Given the description of an element on the screen output the (x, y) to click on. 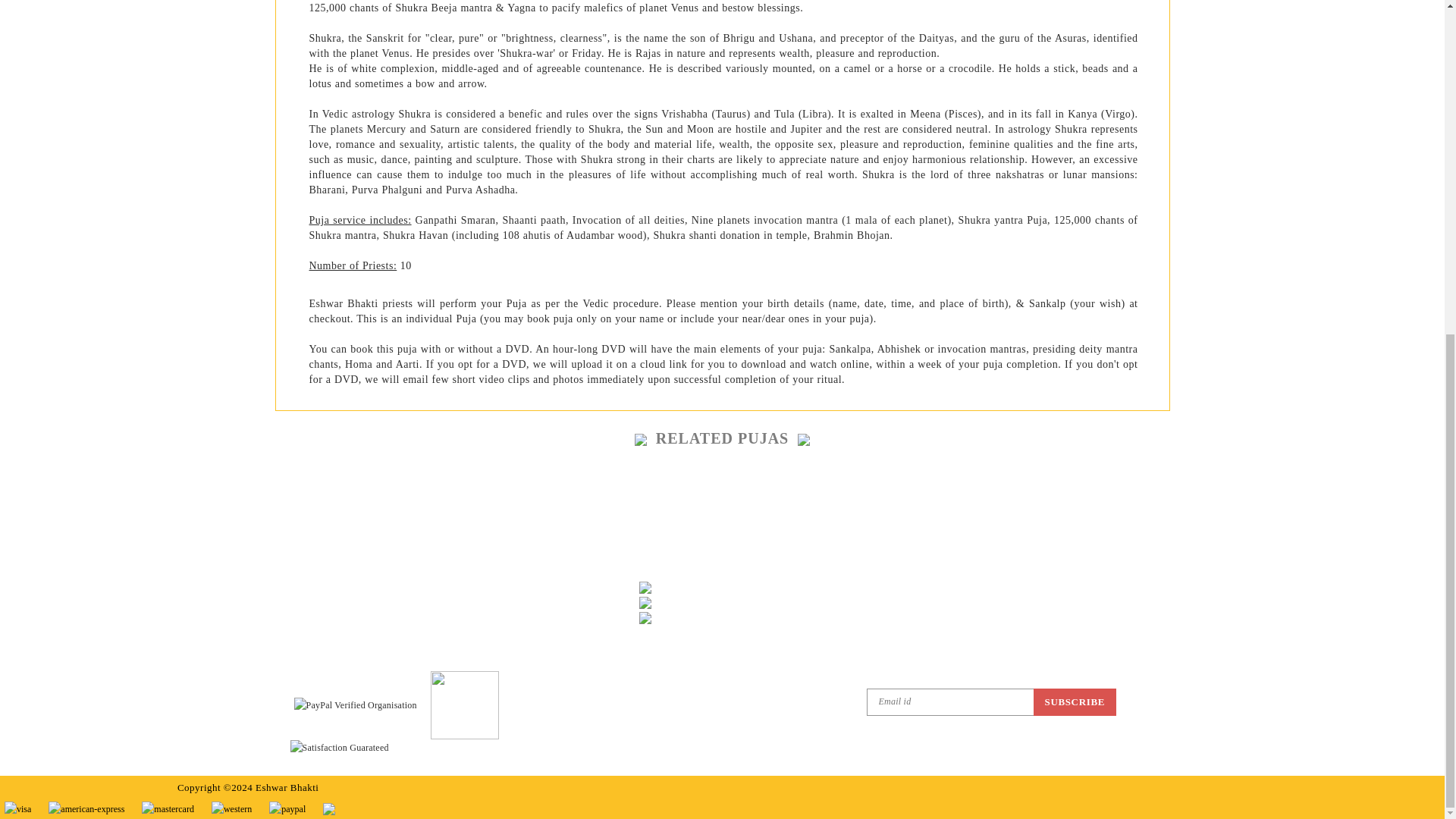
ISO certified Puja Services (470, 704)
Satisfaction Guaranteed (338, 747)
Eshwar Bhakti on Facebook (652, 649)
Eshwar Bhakti on Twitter (693, 649)
Subscribe (1074, 700)
PayPal Verified Organisation (355, 704)
